Given the description of an element on the screen output the (x, y) to click on. 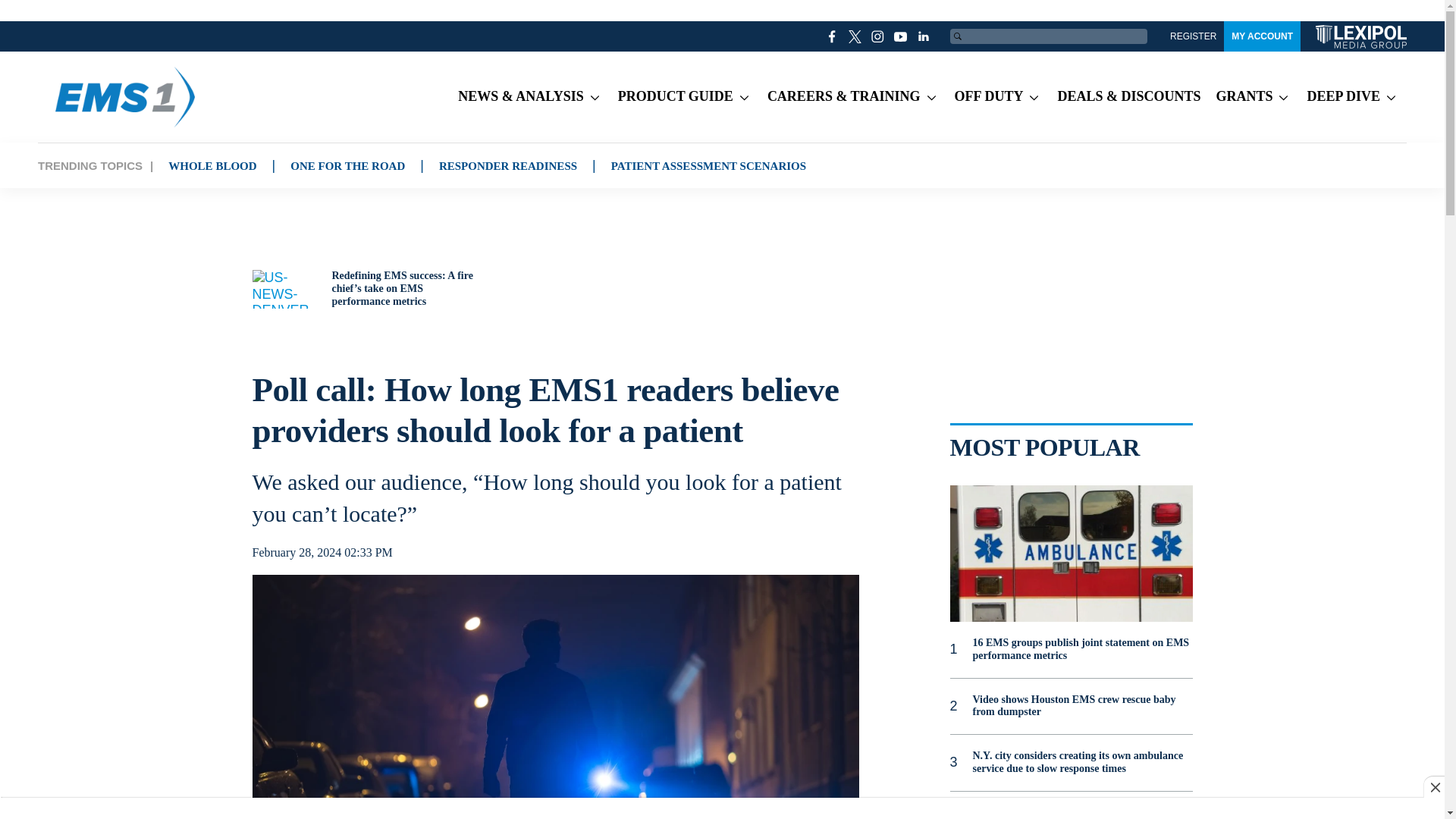
twitter (855, 36)
MY ACCOUNT (1262, 36)
facebook (832, 36)
instagram (877, 36)
linkedin (923, 36)
youtube (900, 36)
REGISTER (1192, 36)
